Given the description of an element on the screen output the (x, y) to click on. 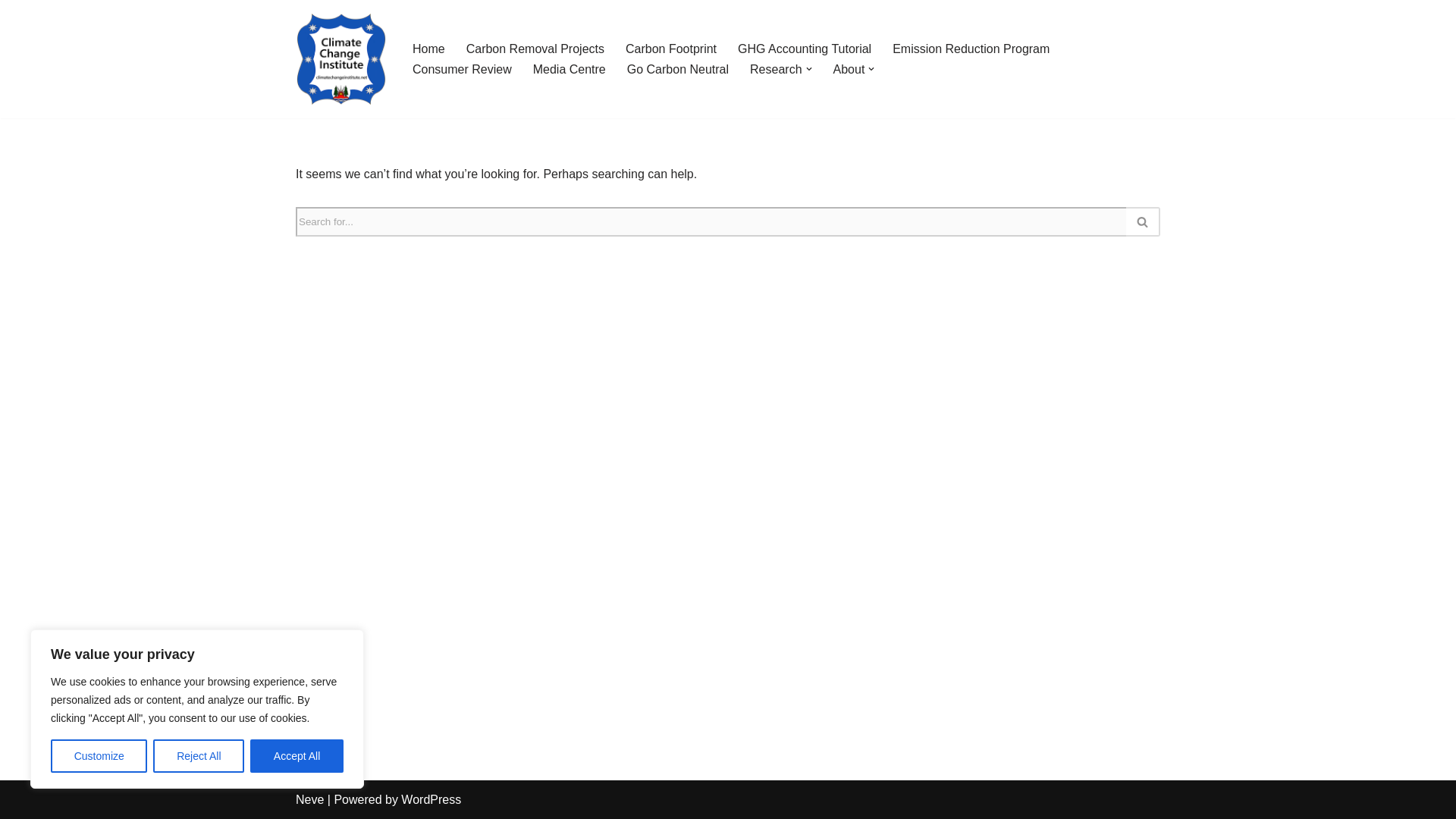
Carbon Removal Projects (534, 48)
Customize (98, 756)
Skip to content (11, 31)
GHG Accounting Tutorial (804, 48)
About (848, 68)
Home (428, 48)
Accept All (296, 756)
Research (775, 68)
Media Centre (568, 68)
Emission Reduction Program (970, 48)
Go Carbon Neutral (678, 68)
Reject All (198, 756)
Carbon Footprint (671, 48)
Consumer Review (462, 68)
